Given the description of an element on the screen output the (x, y) to click on. 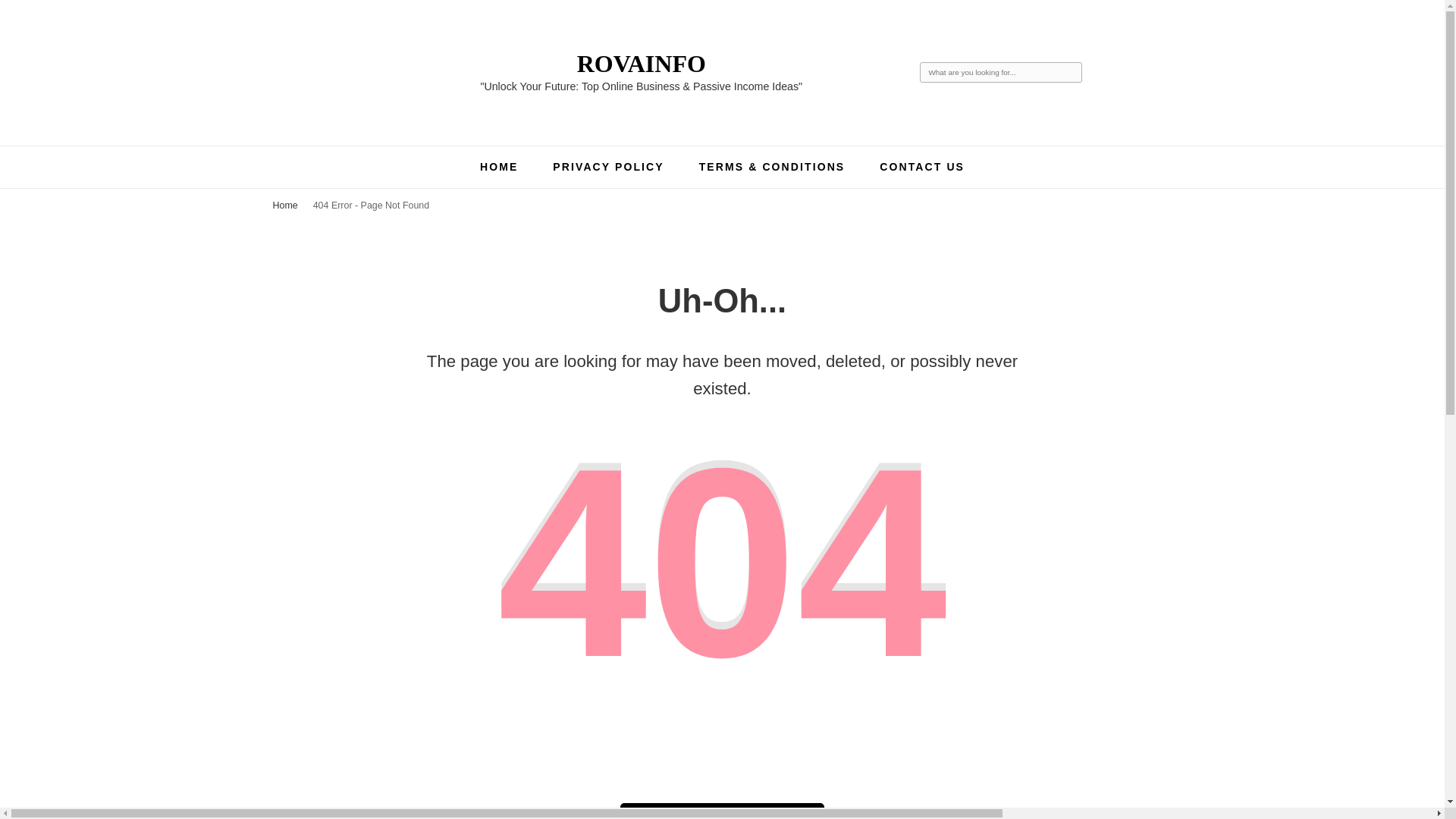
Search (1071, 72)
Home (285, 204)
ROVAINFO (641, 62)
Search (1071, 72)
TAKE ME TO THE HOME PAGE (722, 811)
PRIVACY POLICY (608, 166)
Search (1071, 72)
HOME (499, 166)
CONTACT US (921, 166)
